Given the description of an element on the screen output the (x, y) to click on. 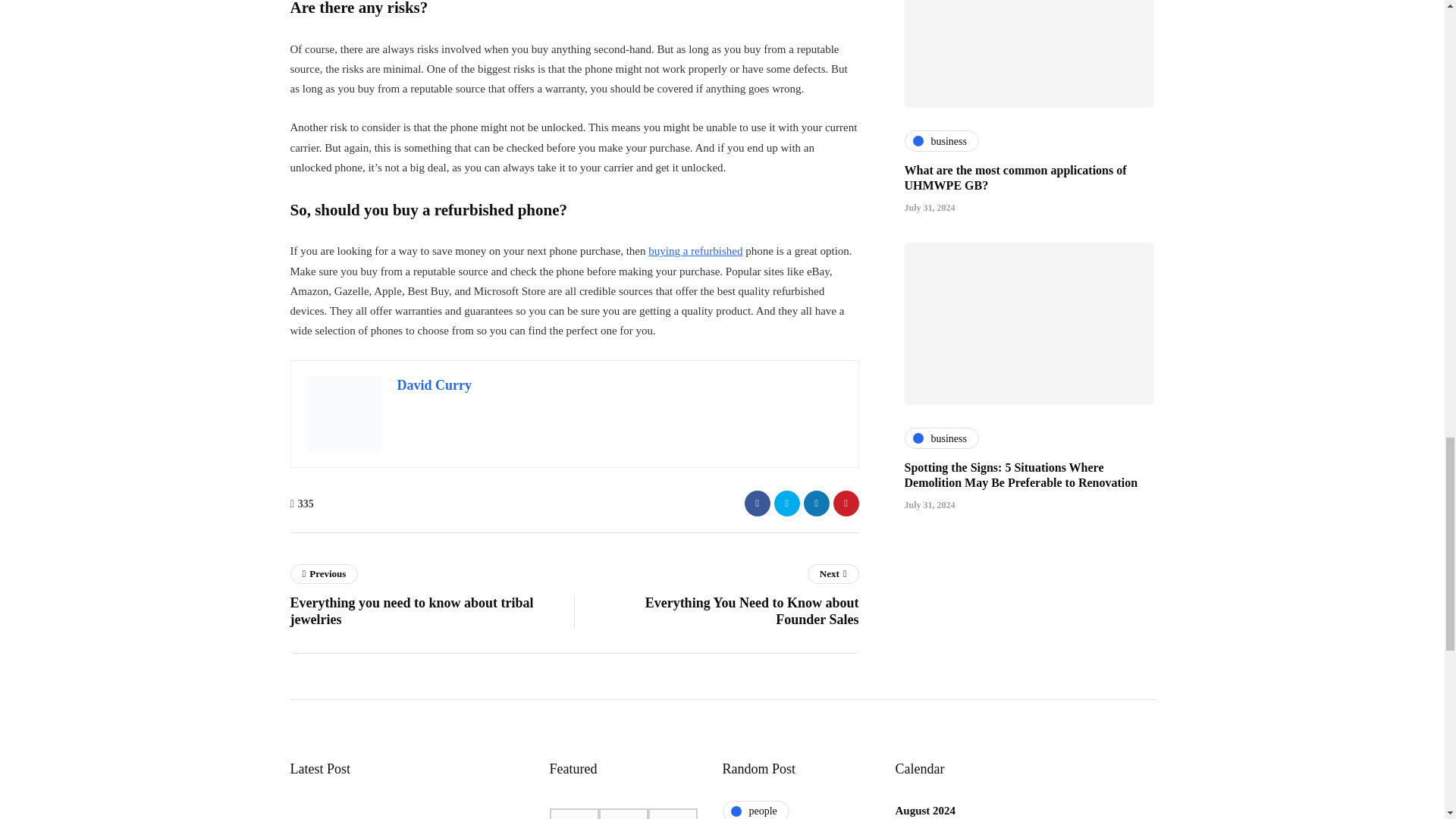
David Curry (434, 385)
Share with LinkedIn (816, 502)
buying a refurbished (694, 250)
Share with Facebook (757, 502)
Tweet this (786, 502)
business (941, 51)
Pin this (431, 598)
